Given the description of an element on the screen output the (x, y) to click on. 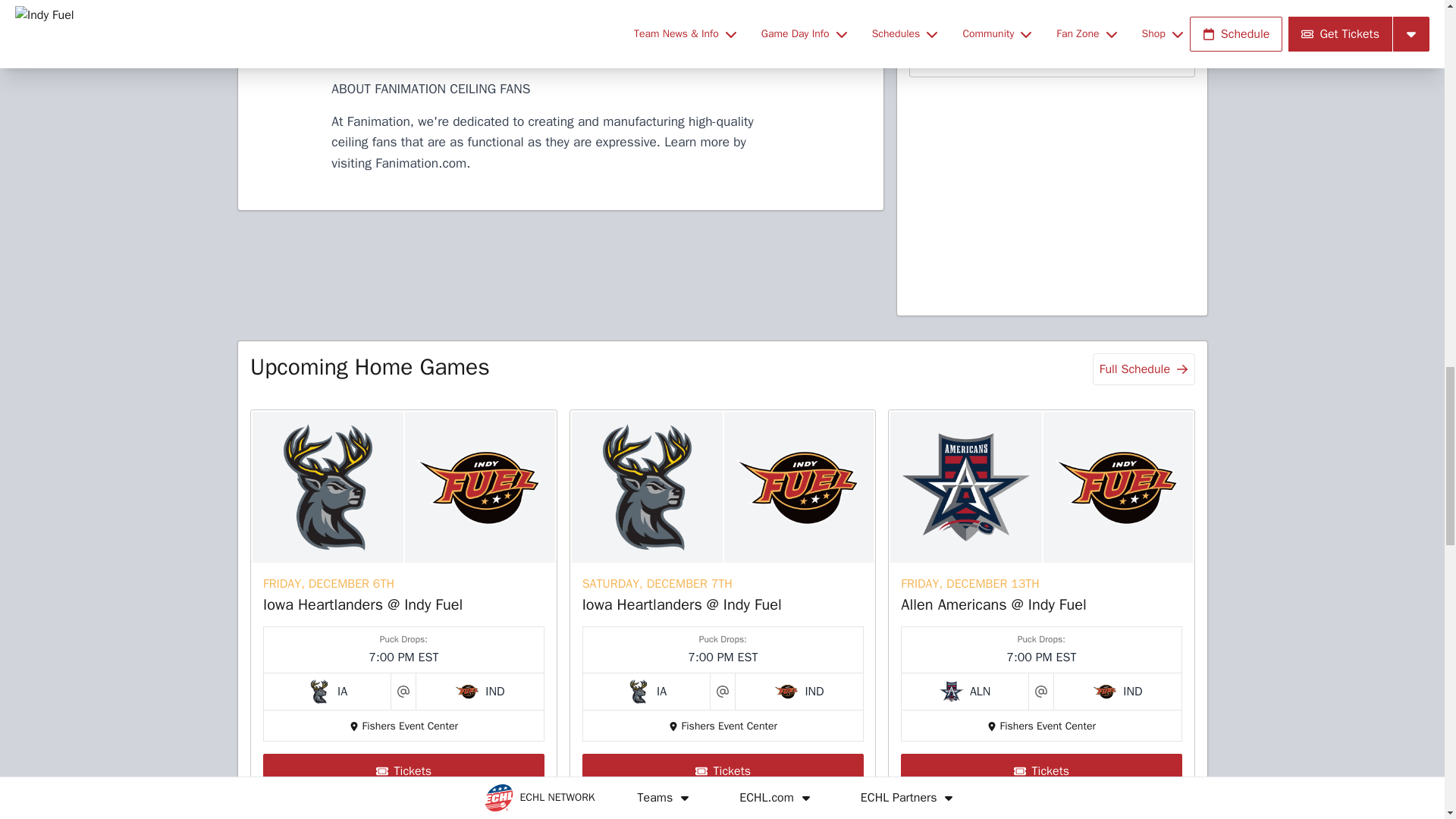
3rd party ad content (560, 281)
